Given the description of an element on the screen output the (x, y) to click on. 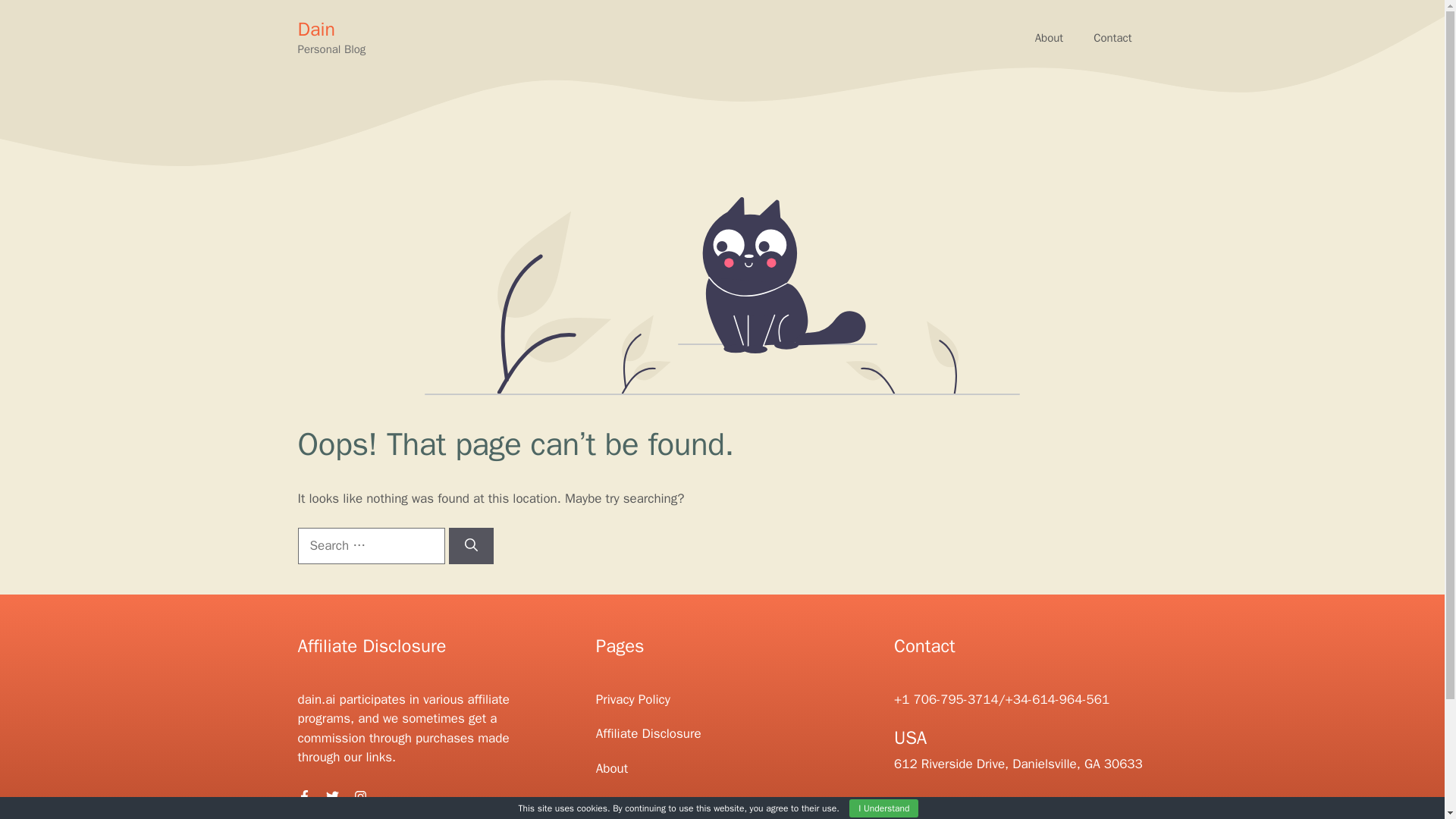
Dain (315, 28)
Affiliate Disclosure (648, 733)
About (1049, 37)
About (611, 768)
Privacy Policy (632, 699)
Contact (1112, 37)
Search for: (370, 545)
About (1049, 37)
Contact (617, 802)
Contact (1112, 37)
